Given the description of an element on the screen output the (x, y) to click on. 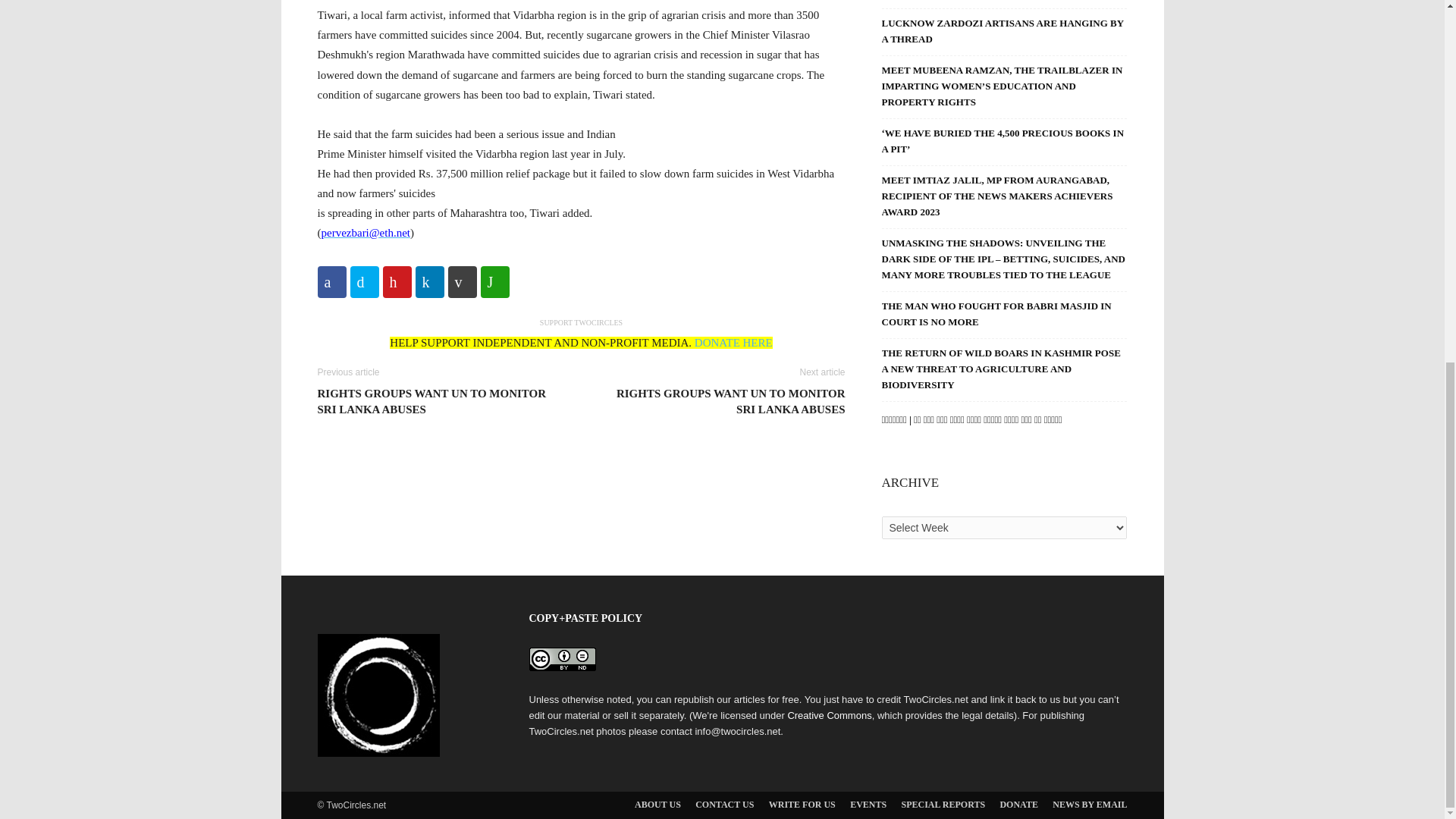
Share on Twitter (364, 282)
Share on WhatsApp (494, 282)
Share on LinkedIn (429, 282)
Share on Email (461, 282)
Share on Facebook (331, 282)
Share on Pinterest (395, 282)
